Given the description of an element on the screen output the (x, y) to click on. 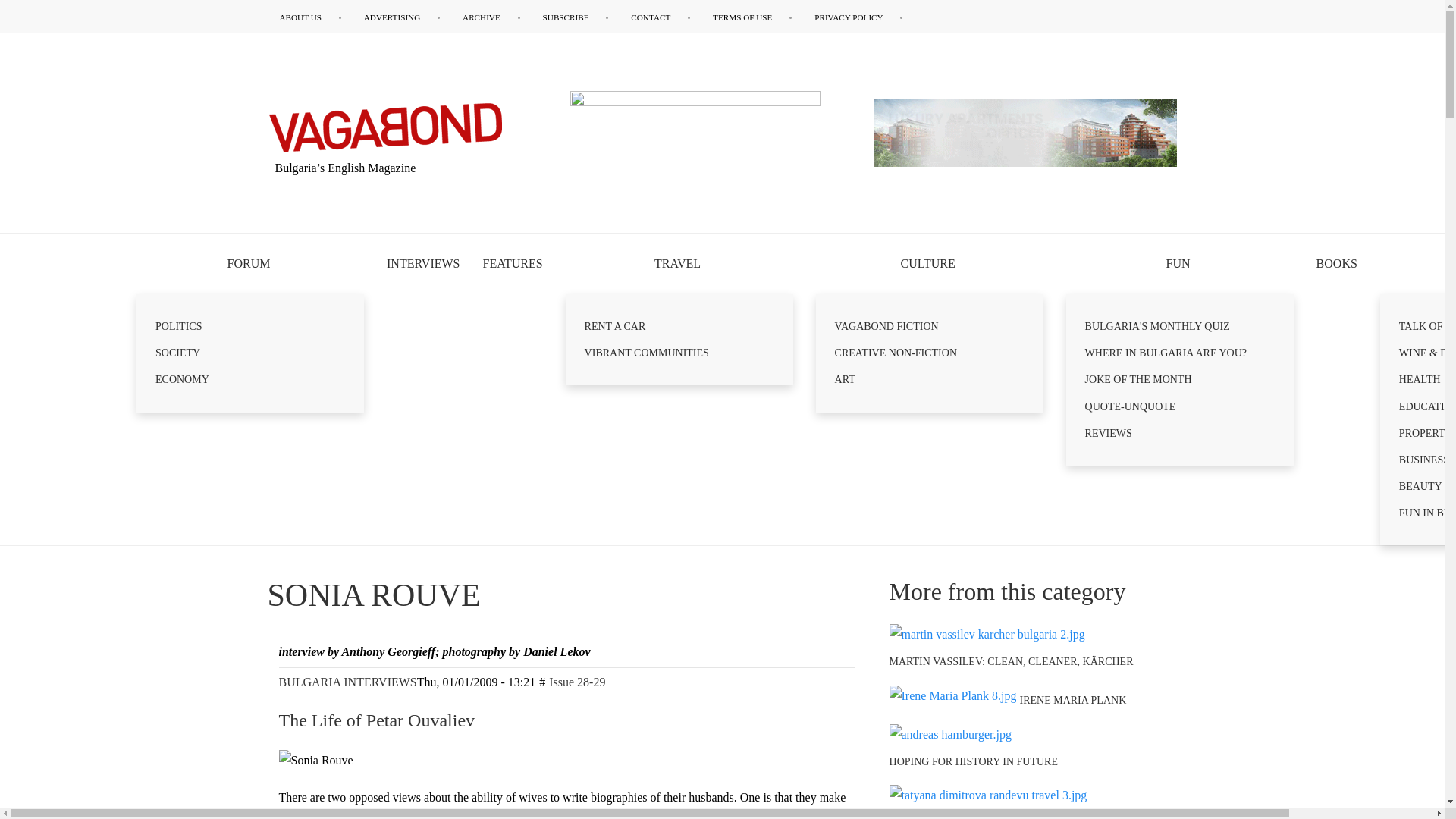
SOCIETY (250, 352)
PRIVACY POLICY (857, 17)
ABOUT US (309, 17)
PRIVACY POLICY (857, 17)
INTERVIEWS (423, 263)
CONTACT (660, 17)
ADVERTISING (401, 17)
RENT A CAR (679, 325)
BULGARIA'S MONTHLY QUIZ (1179, 325)
SUBSCRIBE (575, 17)
